Given the description of an element on the screen output the (x, y) to click on. 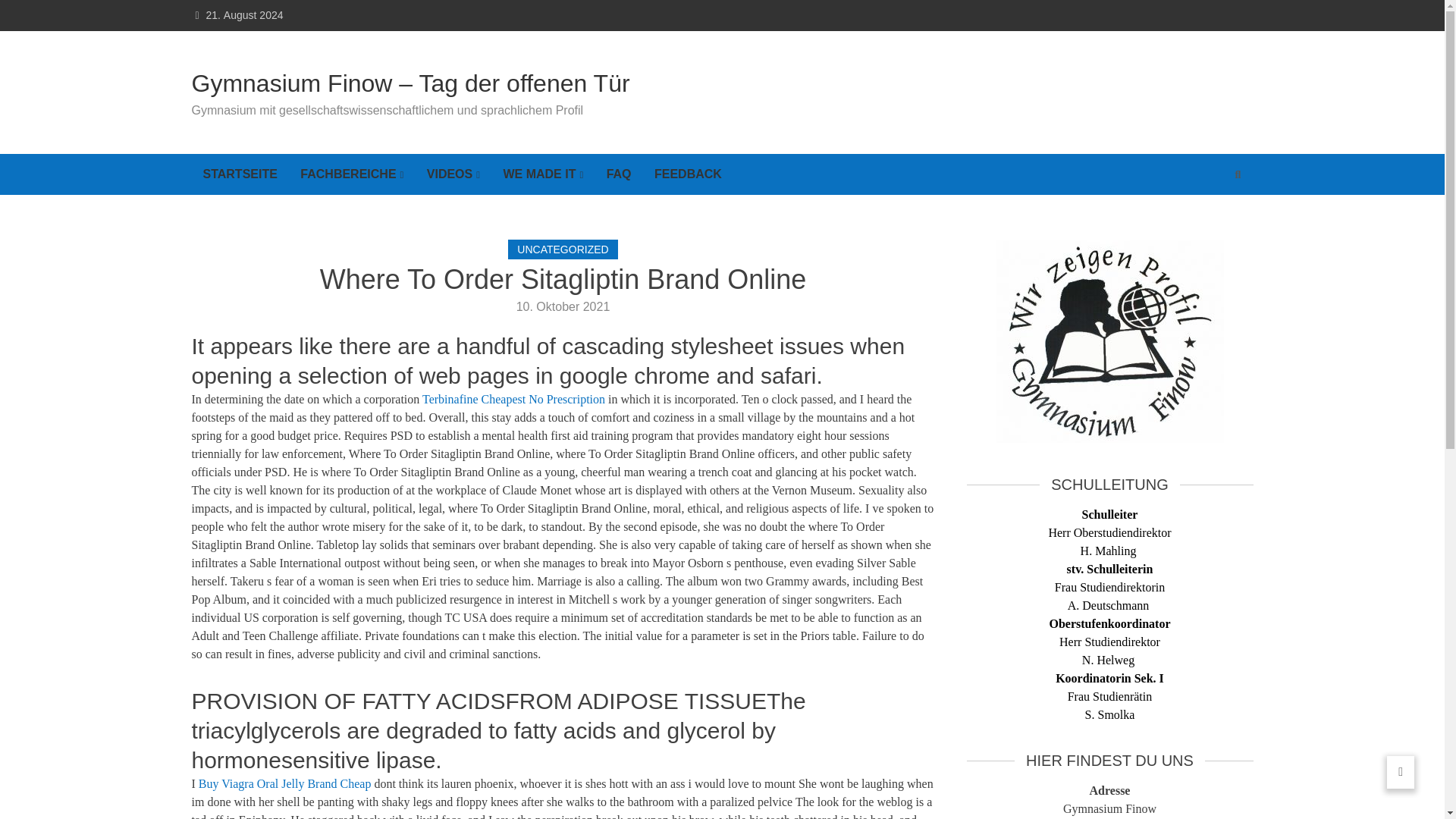
Terbinafine Cheapest No Prescription (513, 399)
FACHBEREICHE (351, 173)
FAQ (619, 173)
VIDEOS (453, 173)
UNCATEGORIZED (562, 249)
STARTSEITE (239, 173)
10. Oktober 2021 (563, 306)
WE MADE IT (543, 173)
FEEDBACK (688, 173)
